Given the description of an element on the screen output the (x, y) to click on. 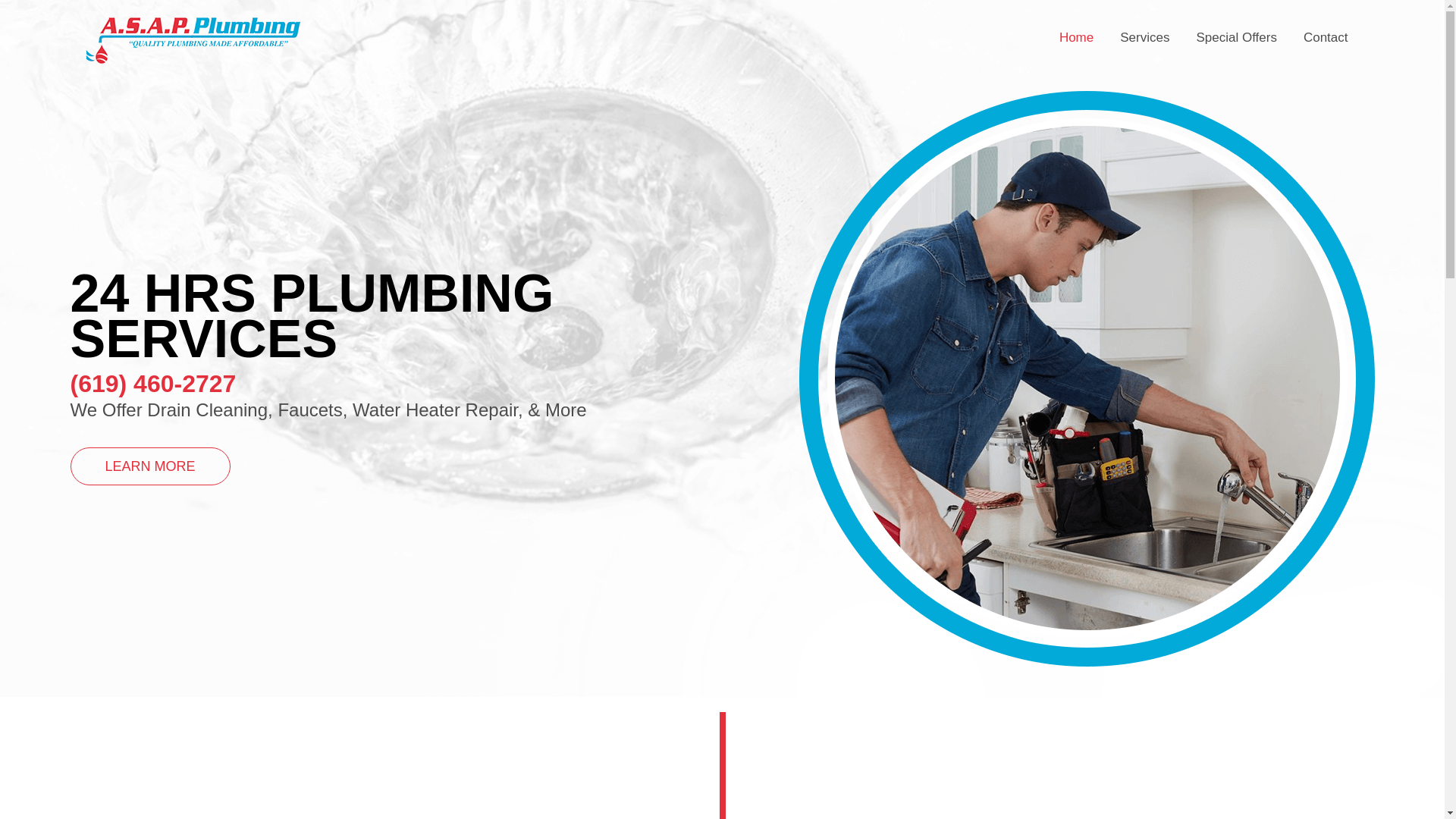
Services (1144, 37)
LEARN MORE (149, 466)
Home (1076, 37)
Special Offers (1236, 37)
Contact (1325, 37)
